Given the description of an element on the screen output the (x, y) to click on. 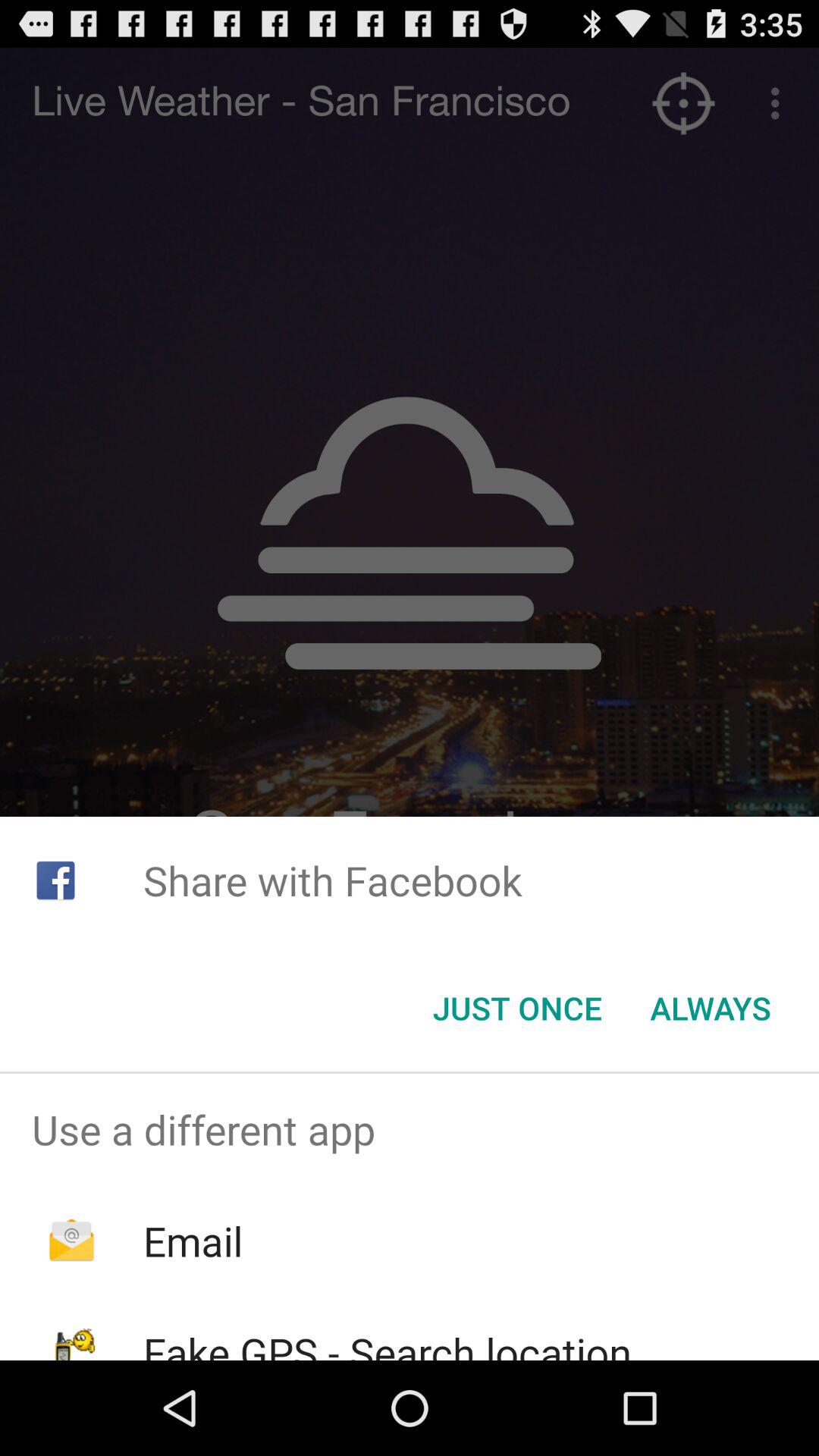
turn off the icon to the left of always icon (517, 1007)
